Given the description of an element on the screen output the (x, y) to click on. 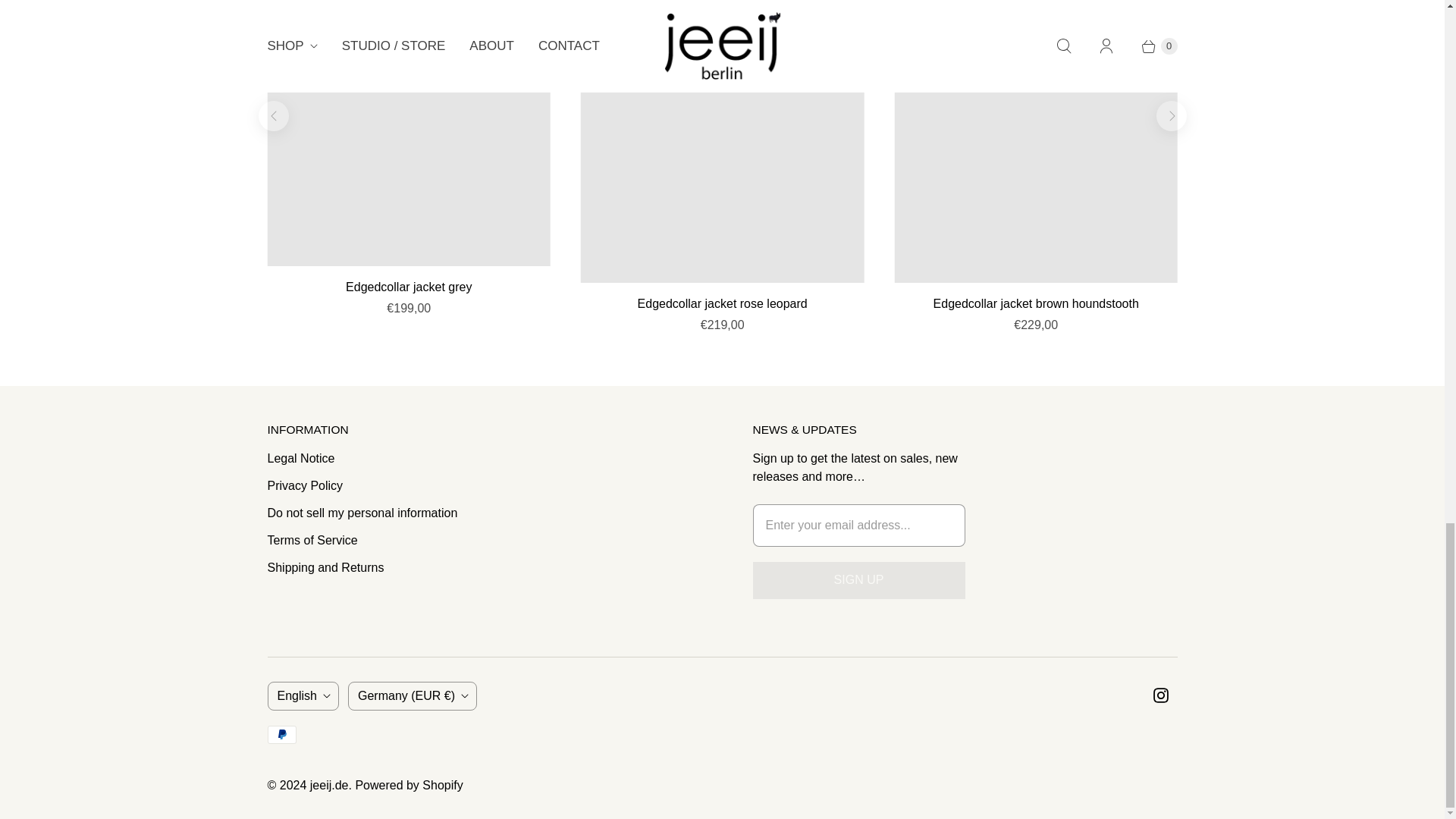
Sign Up (857, 579)
PayPal (280, 734)
